Given the description of an element on the screen output the (x, y) to click on. 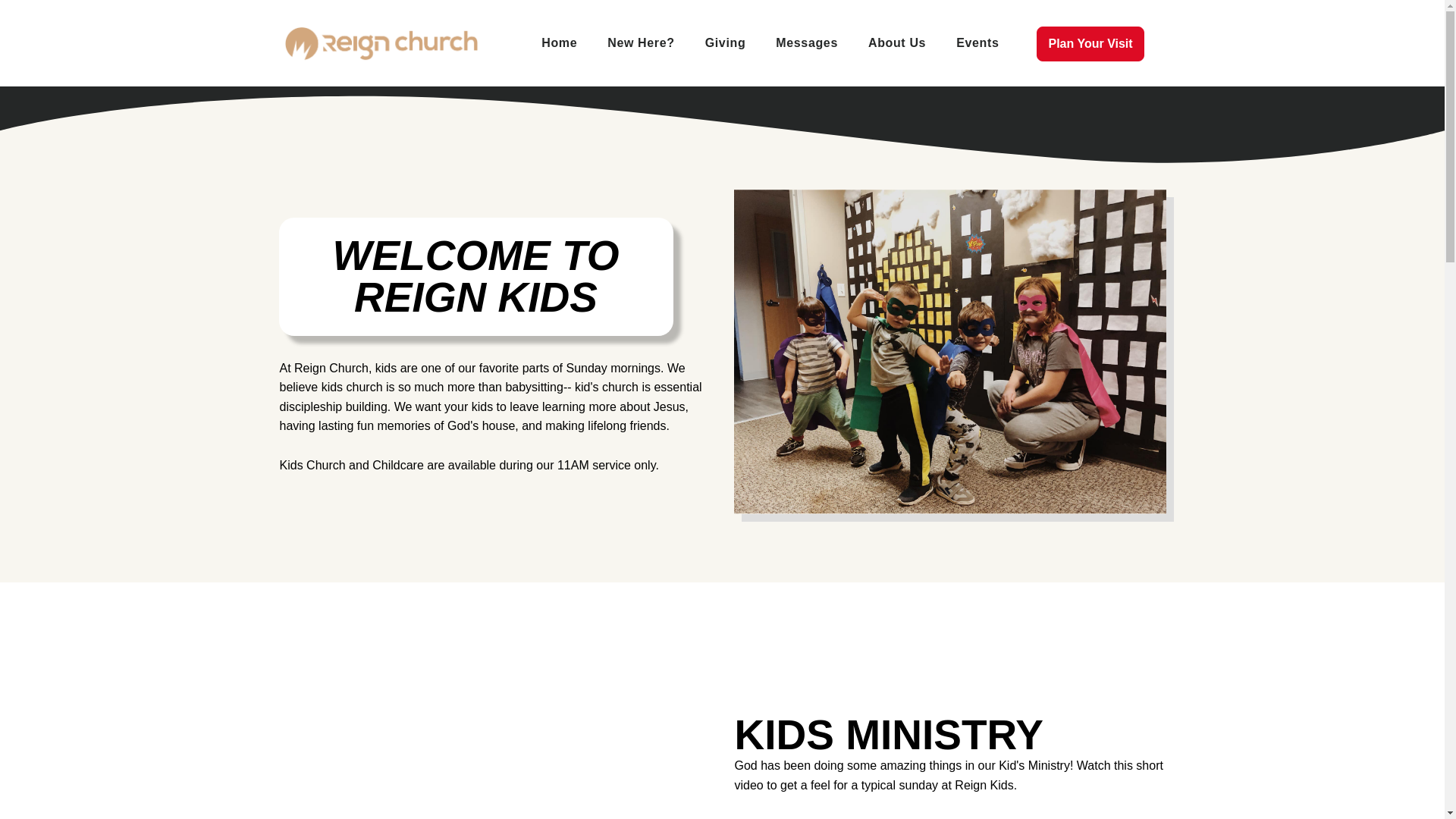
Events (976, 43)
About Us (896, 43)
New Here? (640, 43)
Home (558, 43)
Giving (725, 43)
Plan Your Visit (1089, 43)
Messages (806, 43)
